Given the description of an element on the screen output the (x, y) to click on. 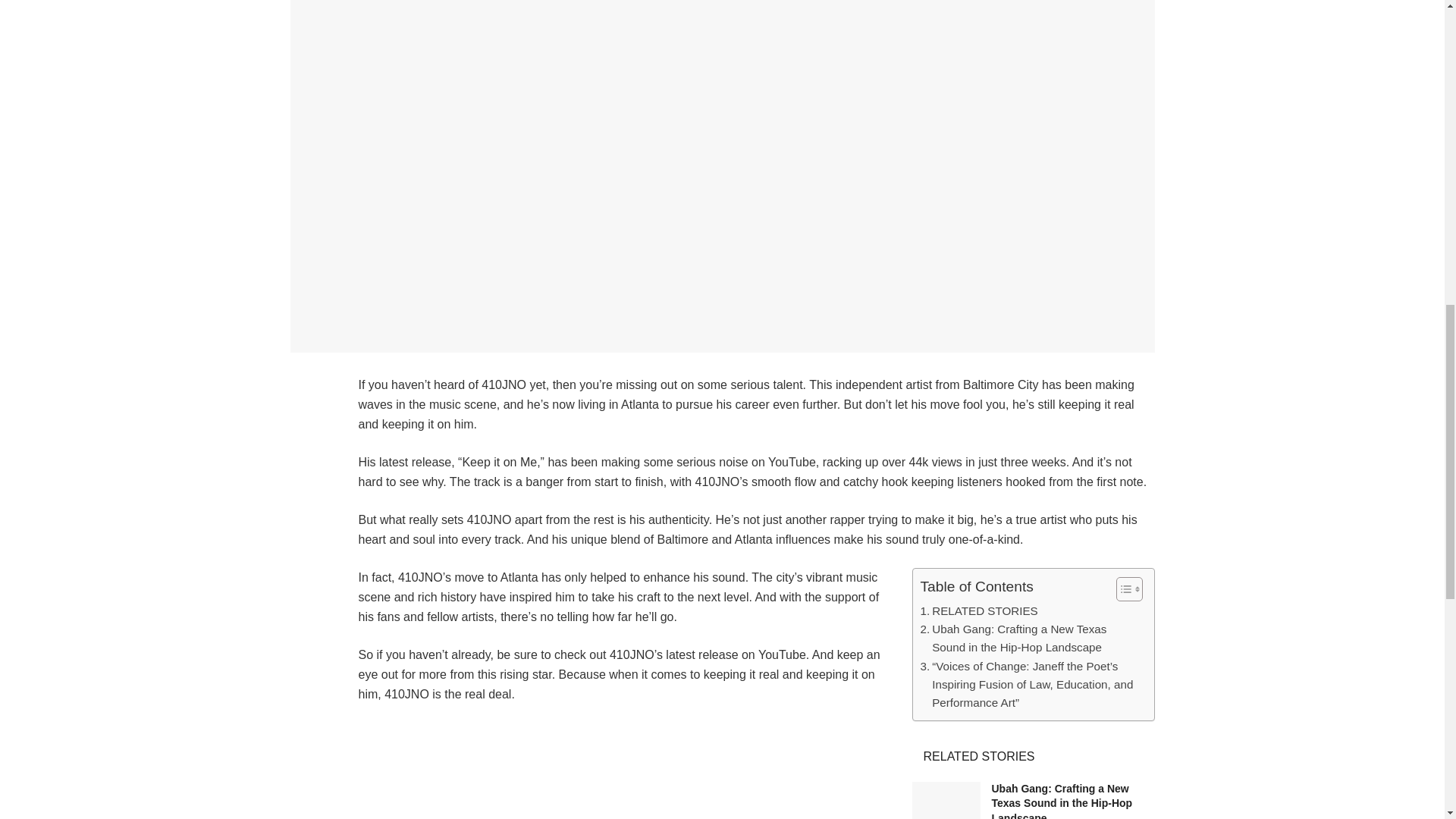
410JNO - Keep it on me (756, 770)
RELATED STORIES (979, 610)
RELATED STORIES (979, 610)
